Given the description of an element on the screen output the (x, y) to click on. 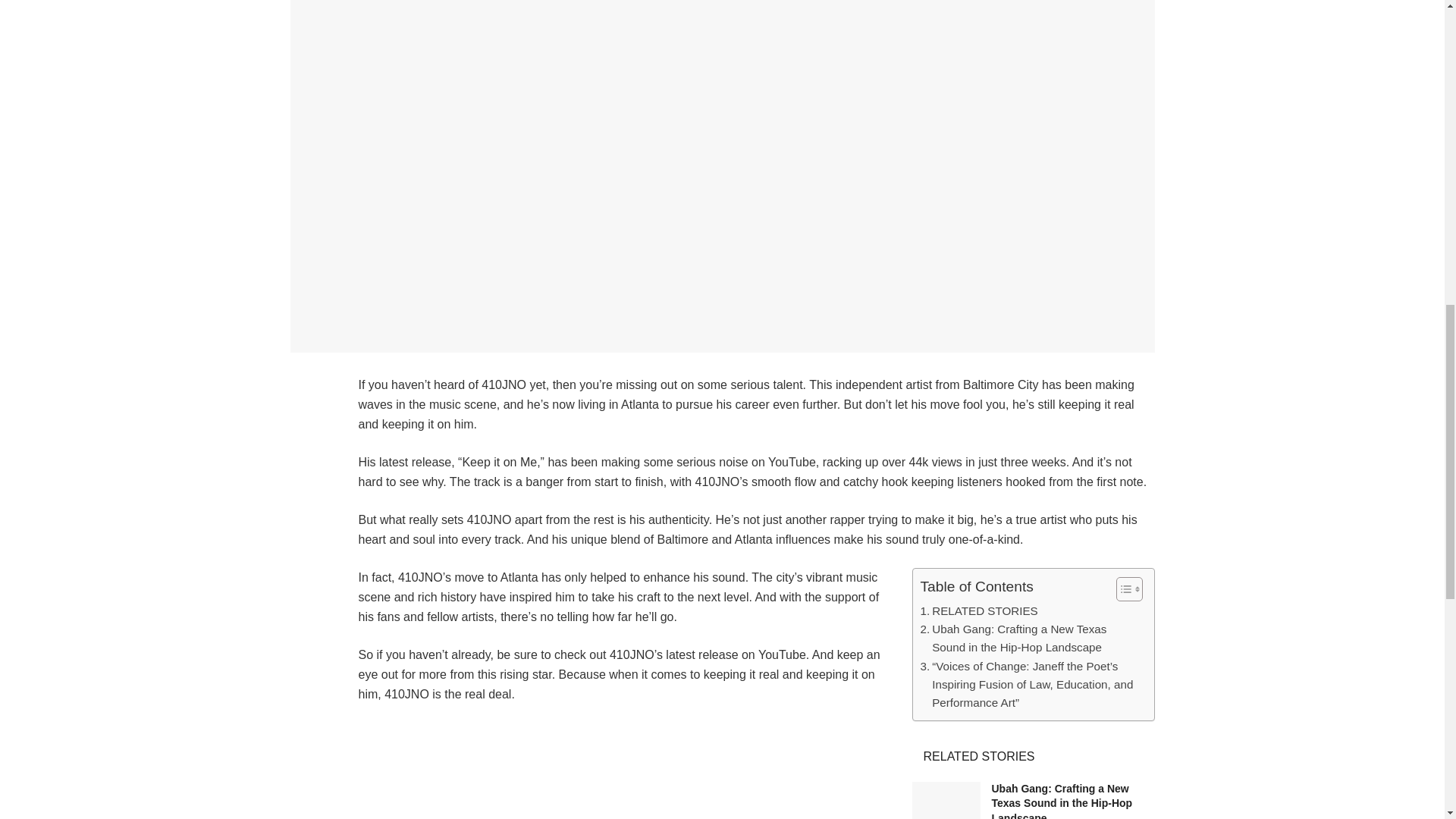
410JNO - Keep it on me (756, 770)
RELATED STORIES (979, 610)
RELATED STORIES (979, 610)
